Given the description of an element on the screen output the (x, y) to click on. 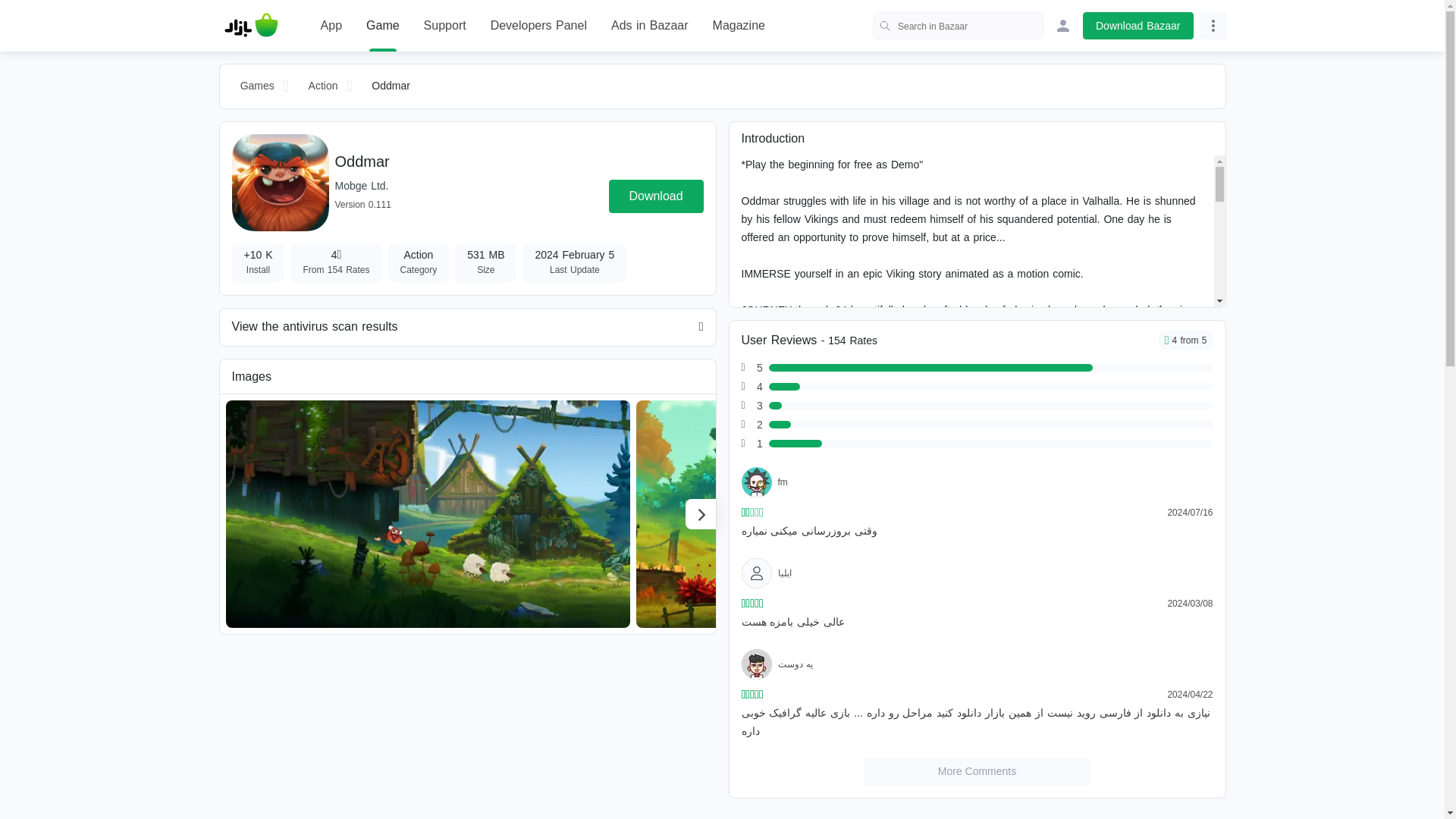
Download (655, 195)
Magazine (739, 25)
Login to Bazaar (1063, 25)
Ads in Bazaar (649, 25)
Mobge Ltd. (361, 185)
Developers Panel (538, 25)
Games (257, 86)
Settings Menu (1213, 25)
Download Bazaar (1138, 25)
Support (444, 25)
Home (250, 25)
Action (322, 86)
